Given the description of an element on the screen output the (x, y) to click on. 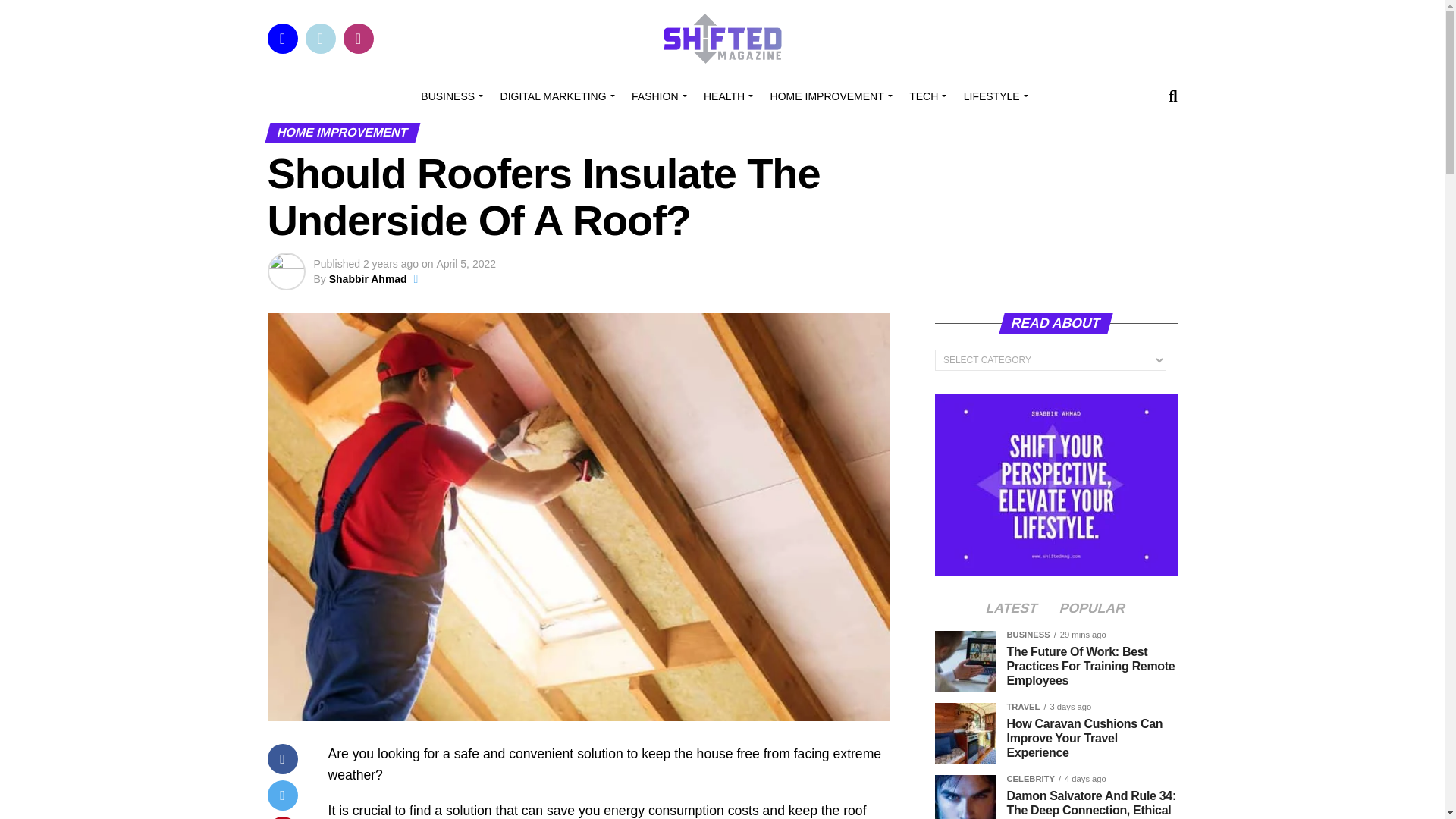
DIGITAL MARKETING (556, 95)
Posts by Shabbir Ahmad (368, 278)
TECH (924, 95)
HOME IMPROVEMENT (828, 95)
FASHION (656, 95)
BUSINESS (449, 95)
HEALTH (725, 95)
